Given the description of an element on the screen output the (x, y) to click on. 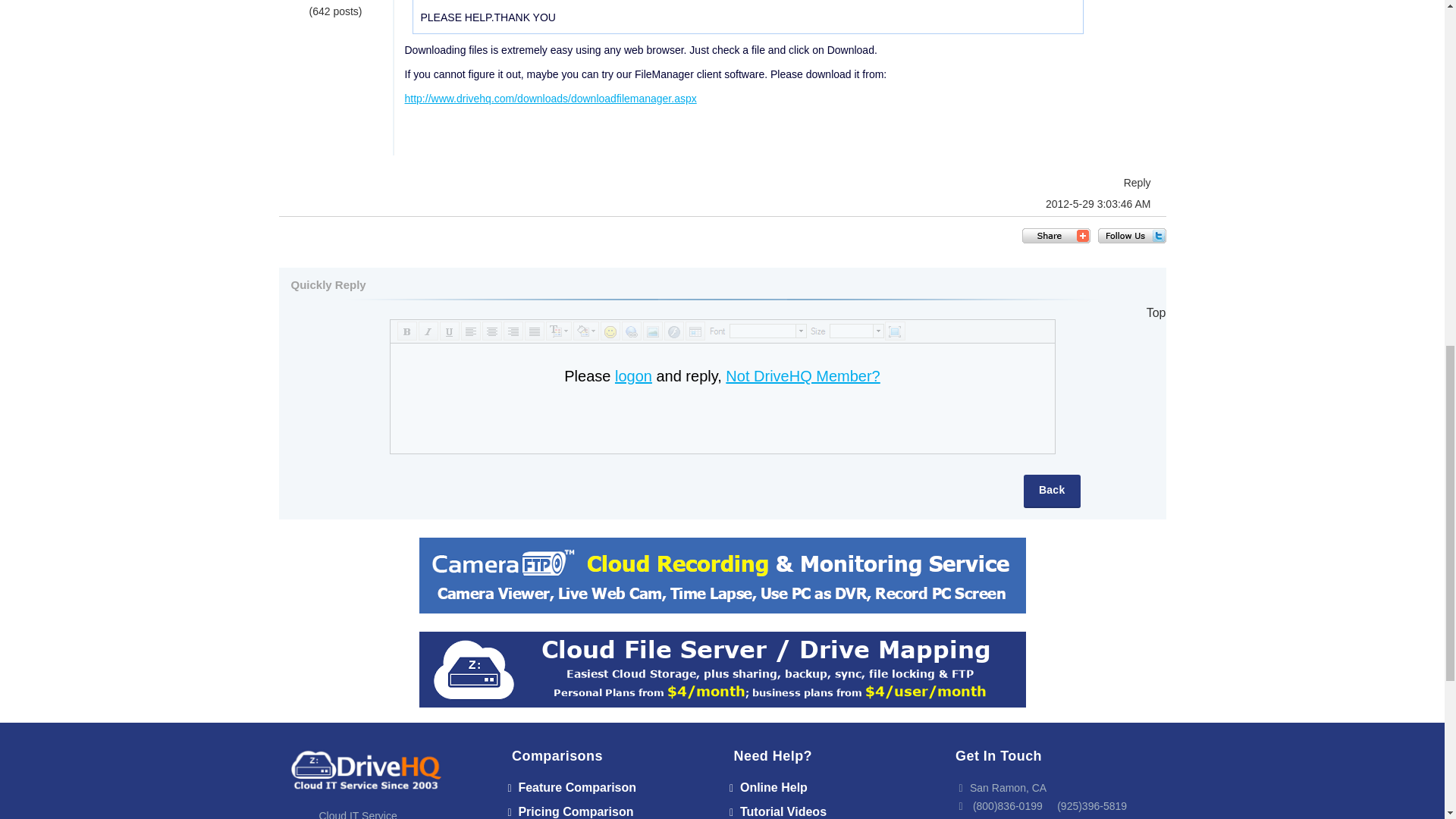
Back (1051, 491)
